Given the description of an element on the screen output the (x, y) to click on. 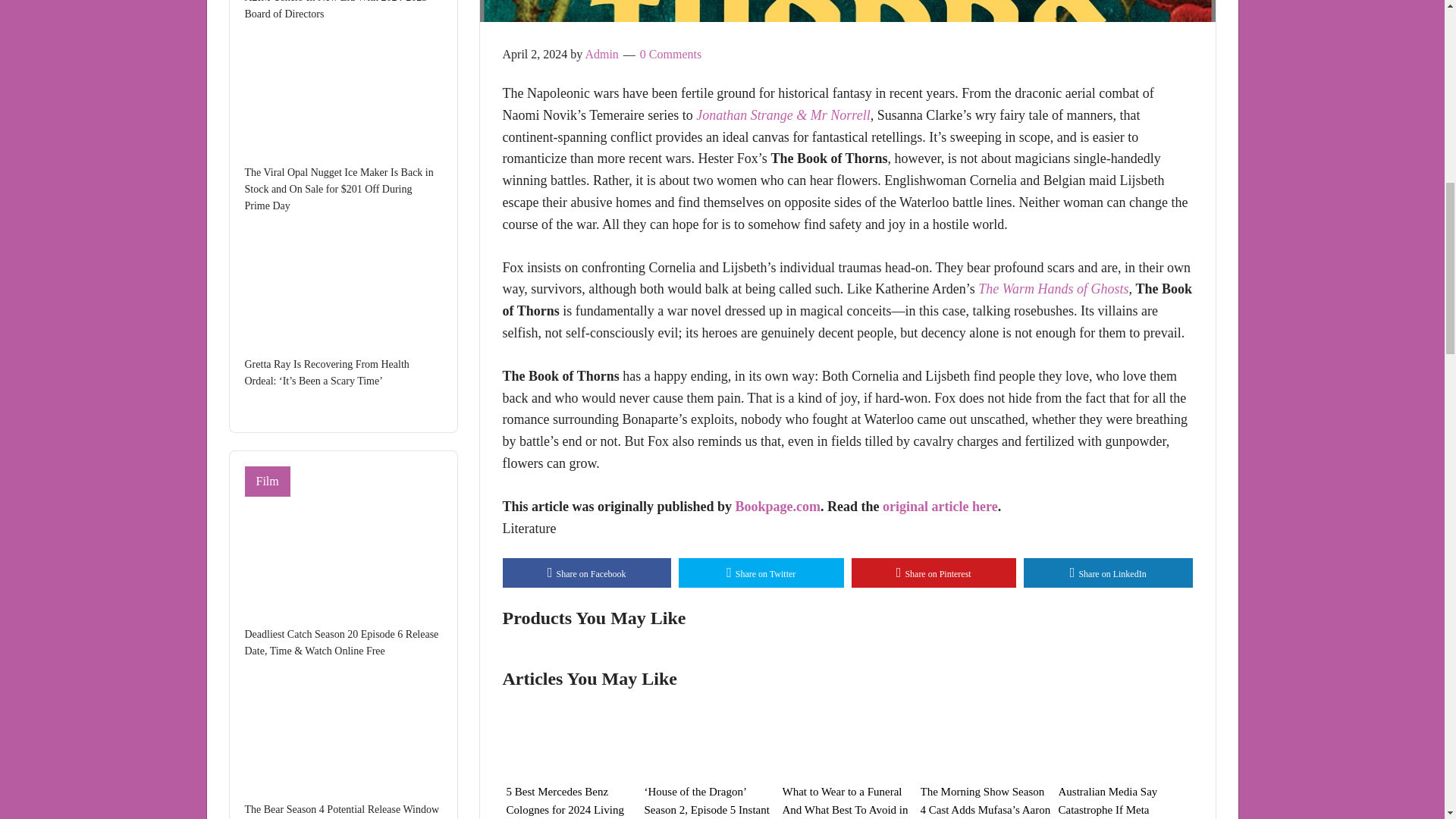
Literature (529, 528)
